Given the description of an element on the screen output the (x, y) to click on. 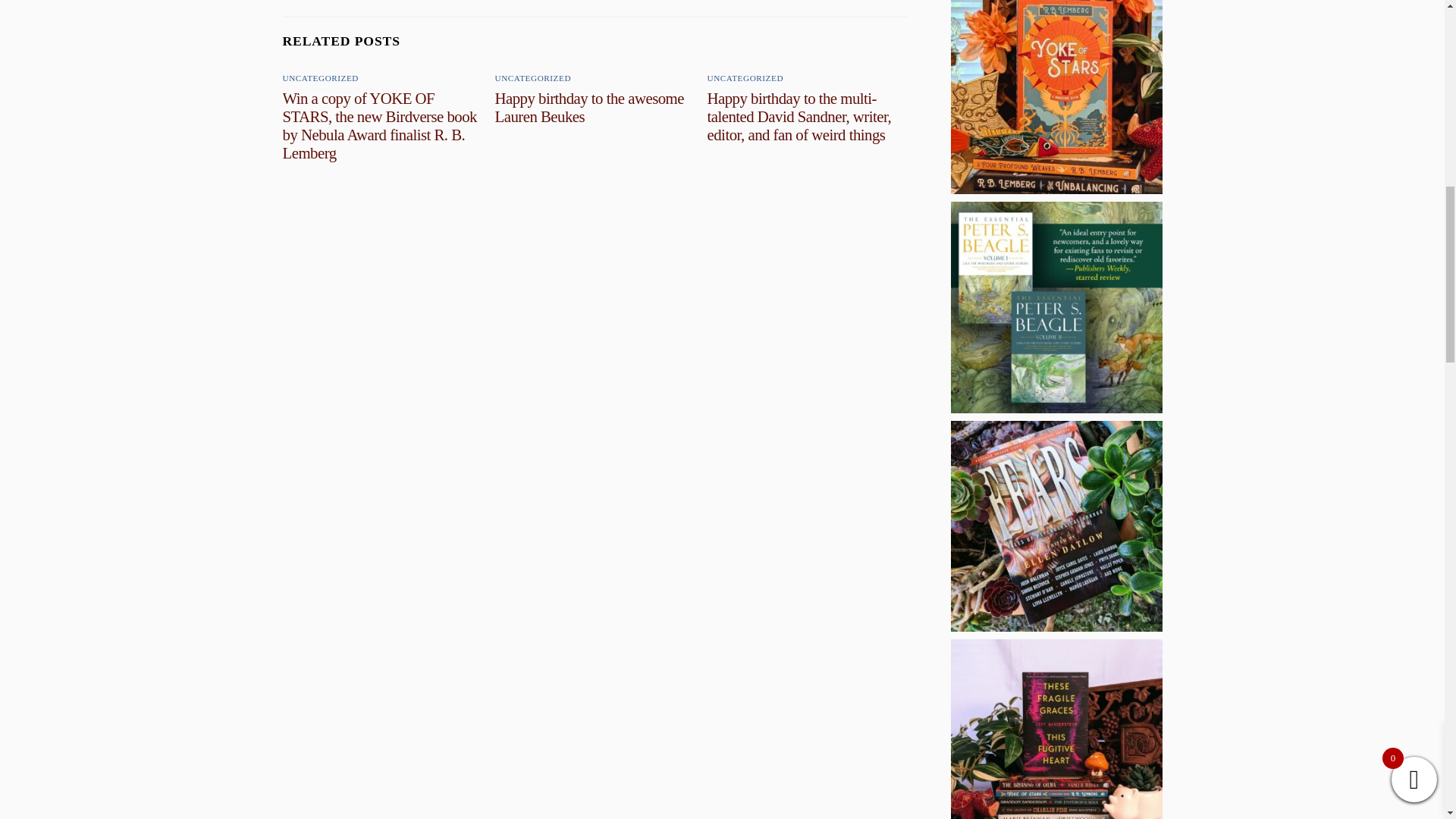
Happy birthday to the awesome Lauren Beukes (589, 107)
